Given the description of an element on the screen output the (x, y) to click on. 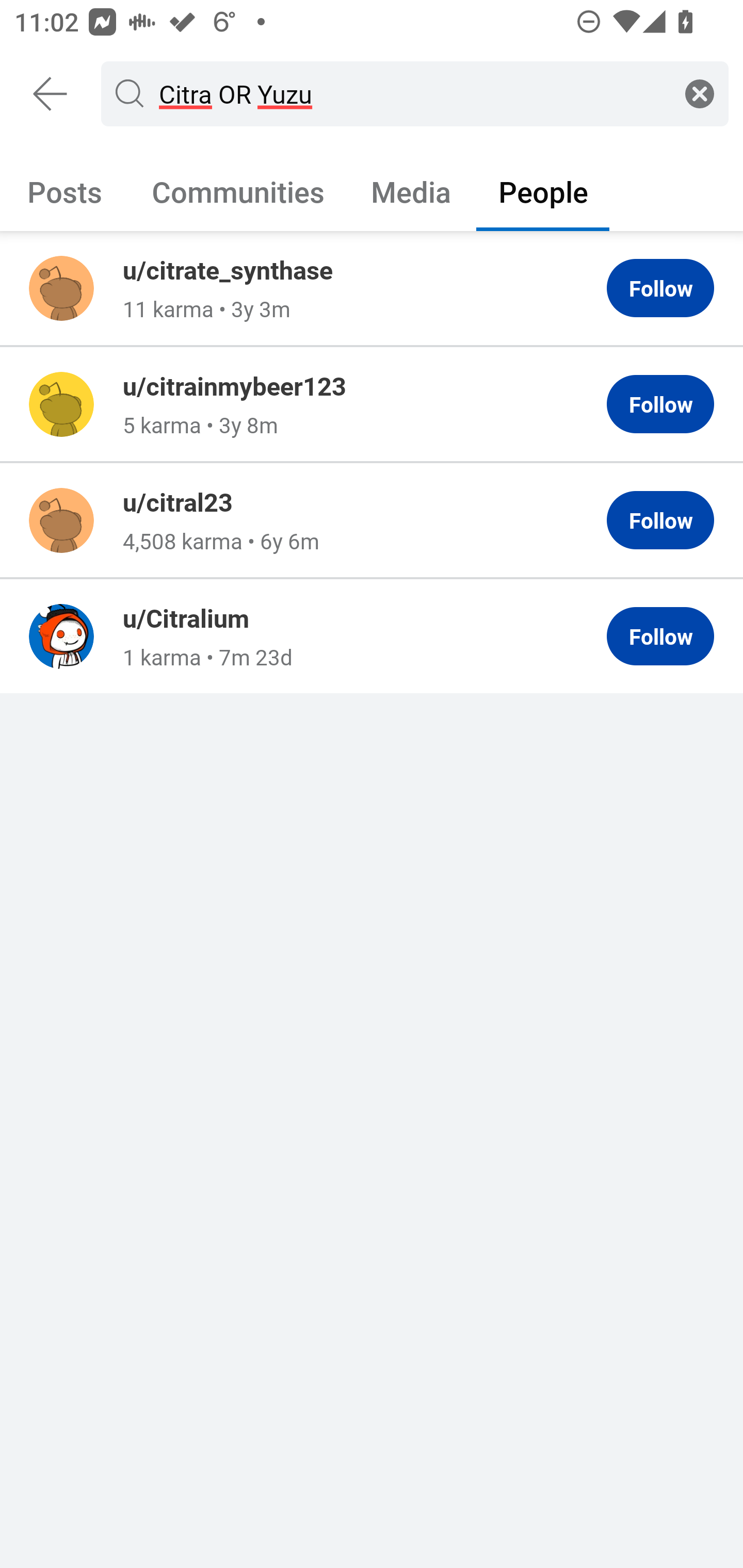
Back (50, 93)
Citra OR Yuzu (410, 93)
Clear search (699, 93)
Posts (65, 191)
Communities (238, 191)
Media (411, 191)
Follow (660, 288)
Follow (660, 404)
Follow (660, 520)
Follow (660, 636)
